Given the description of an element on the screen output the (x, y) to click on. 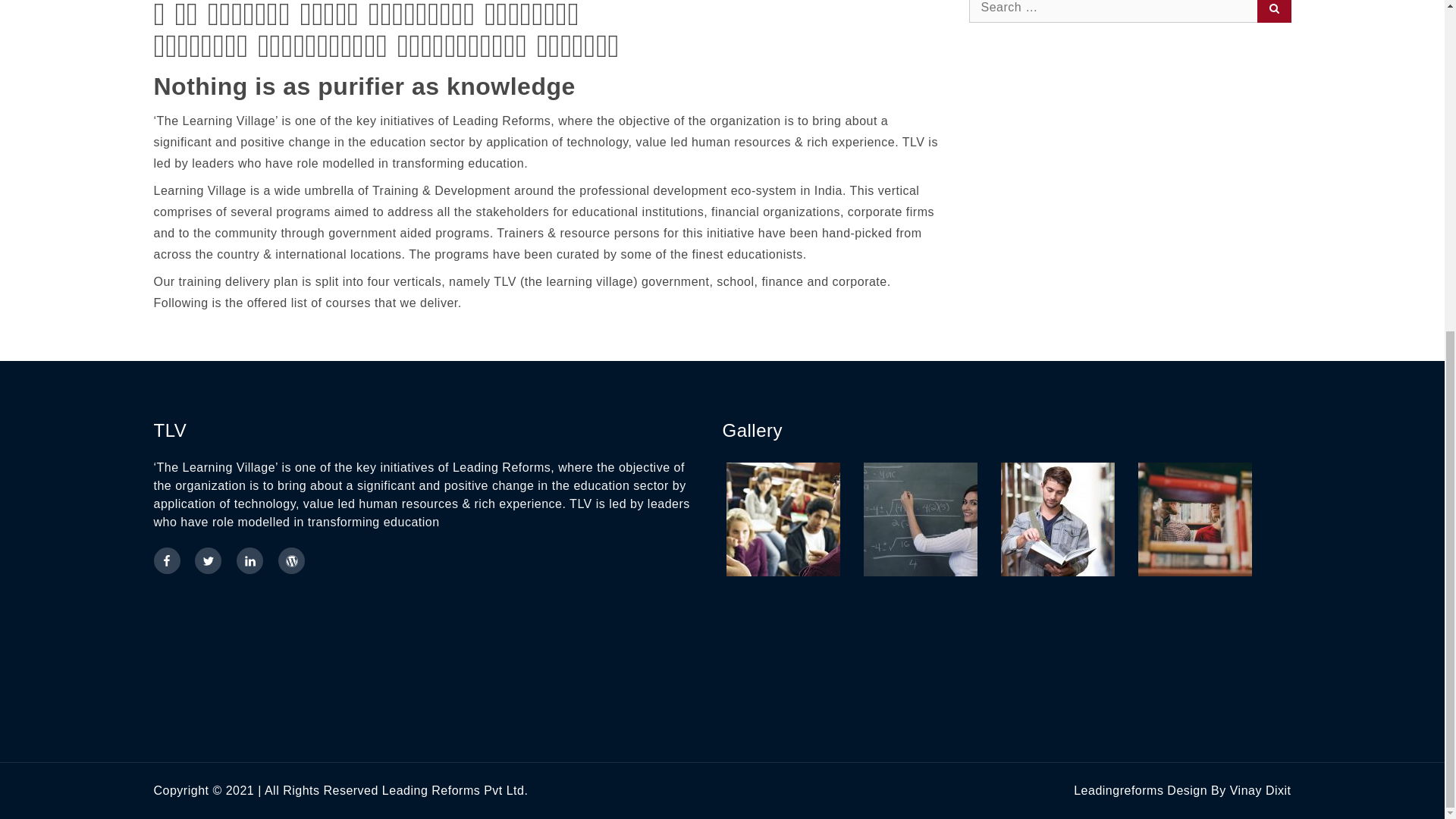
Search (1274, 11)
